Given the description of an element on the screen output the (x, y) to click on. 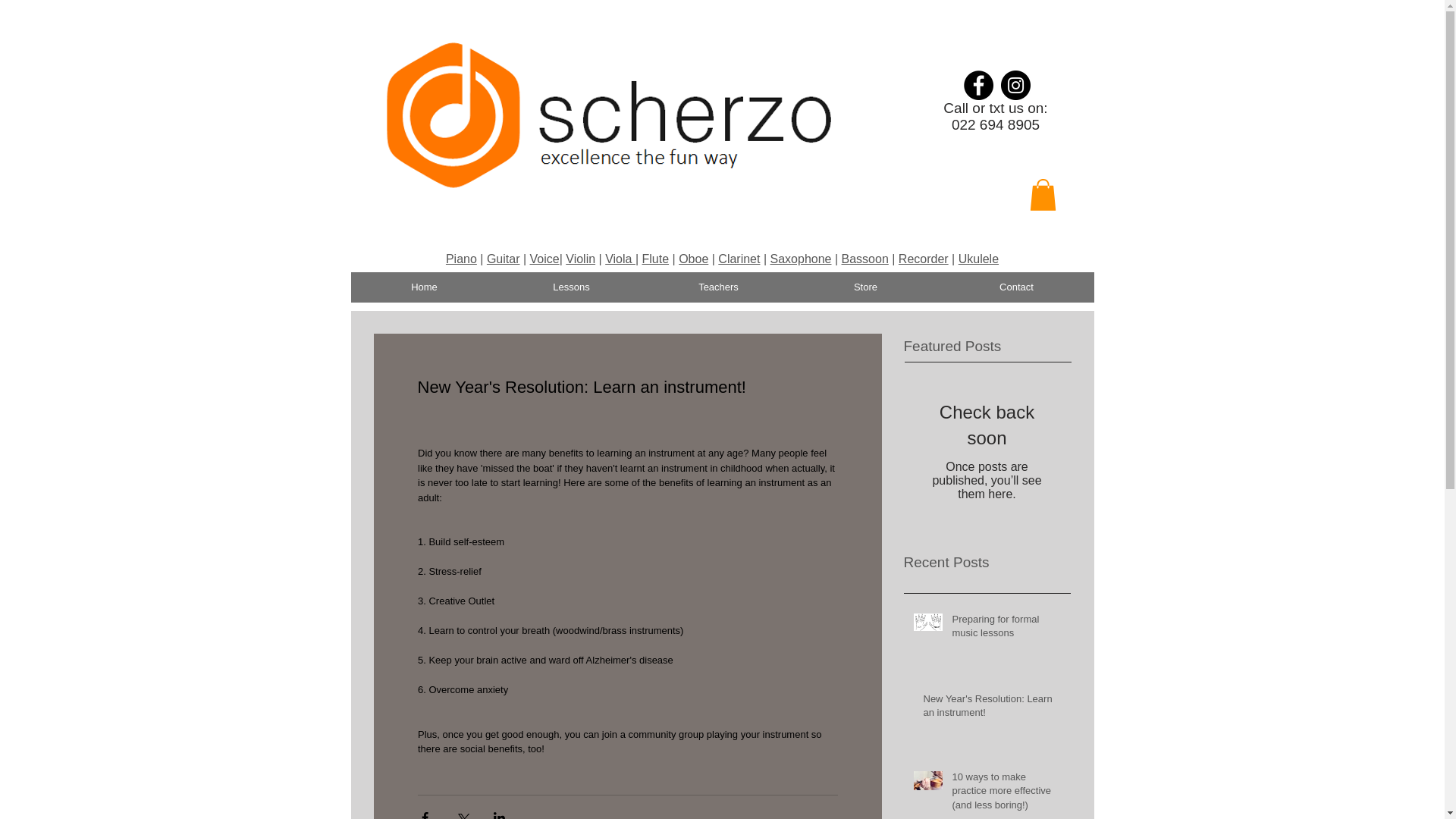
Bassoon (864, 258)
Lessons (571, 286)
Saxophone (800, 258)
Piano (461, 258)
Recorder (923, 258)
Violin (580, 258)
Viola  (619, 258)
Flute (655, 258)
Home (423, 286)
Store (865, 286)
Guitar (502, 258)
Oboe (692, 258)
Preparing for formal music lessons (1006, 629)
Contact (1016, 286)
Teachers (718, 286)
